Given the description of an element on the screen output the (x, y) to click on. 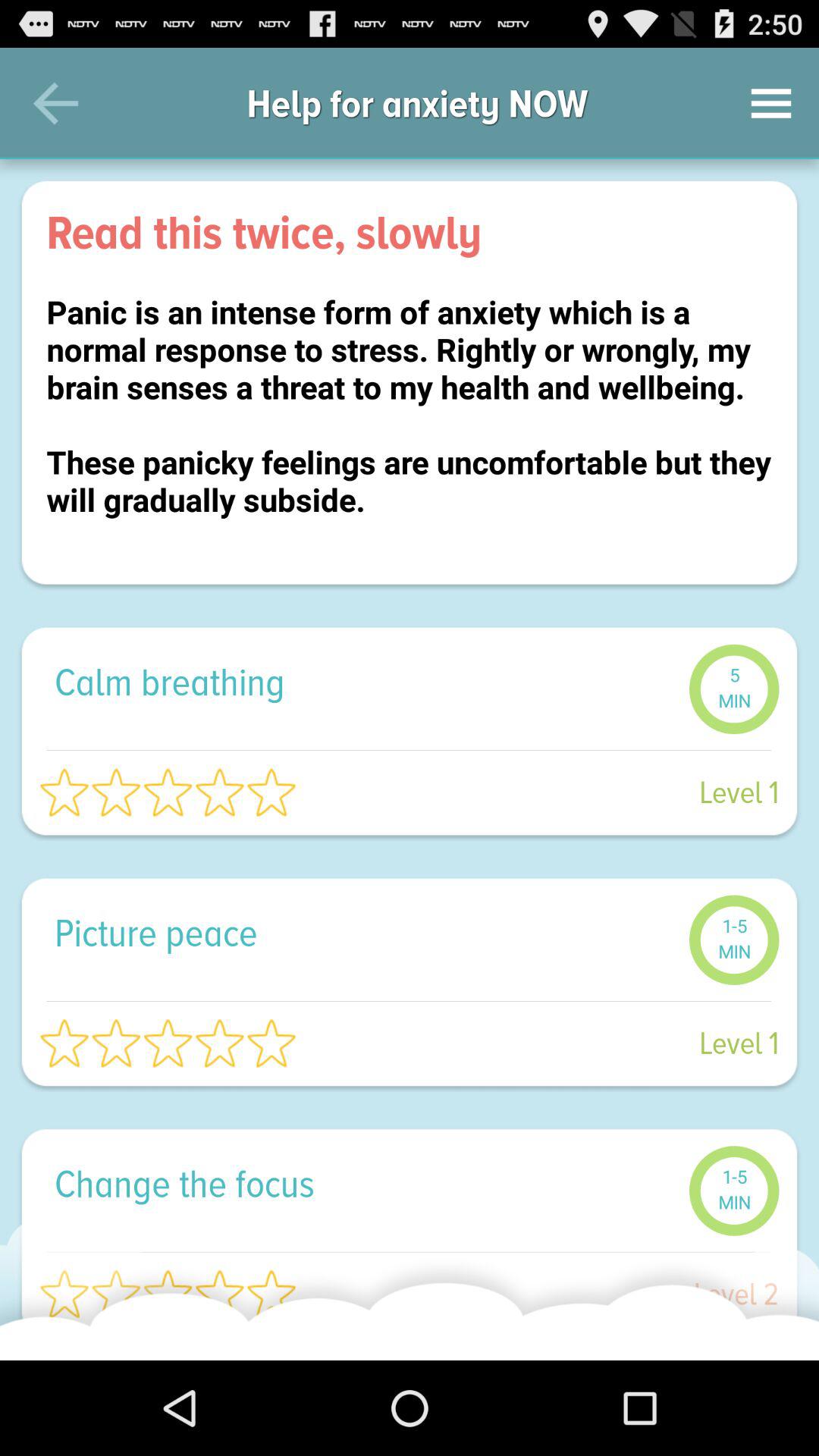
open the change the focus (363, 1183)
